Given the description of an element on the screen output the (x, y) to click on. 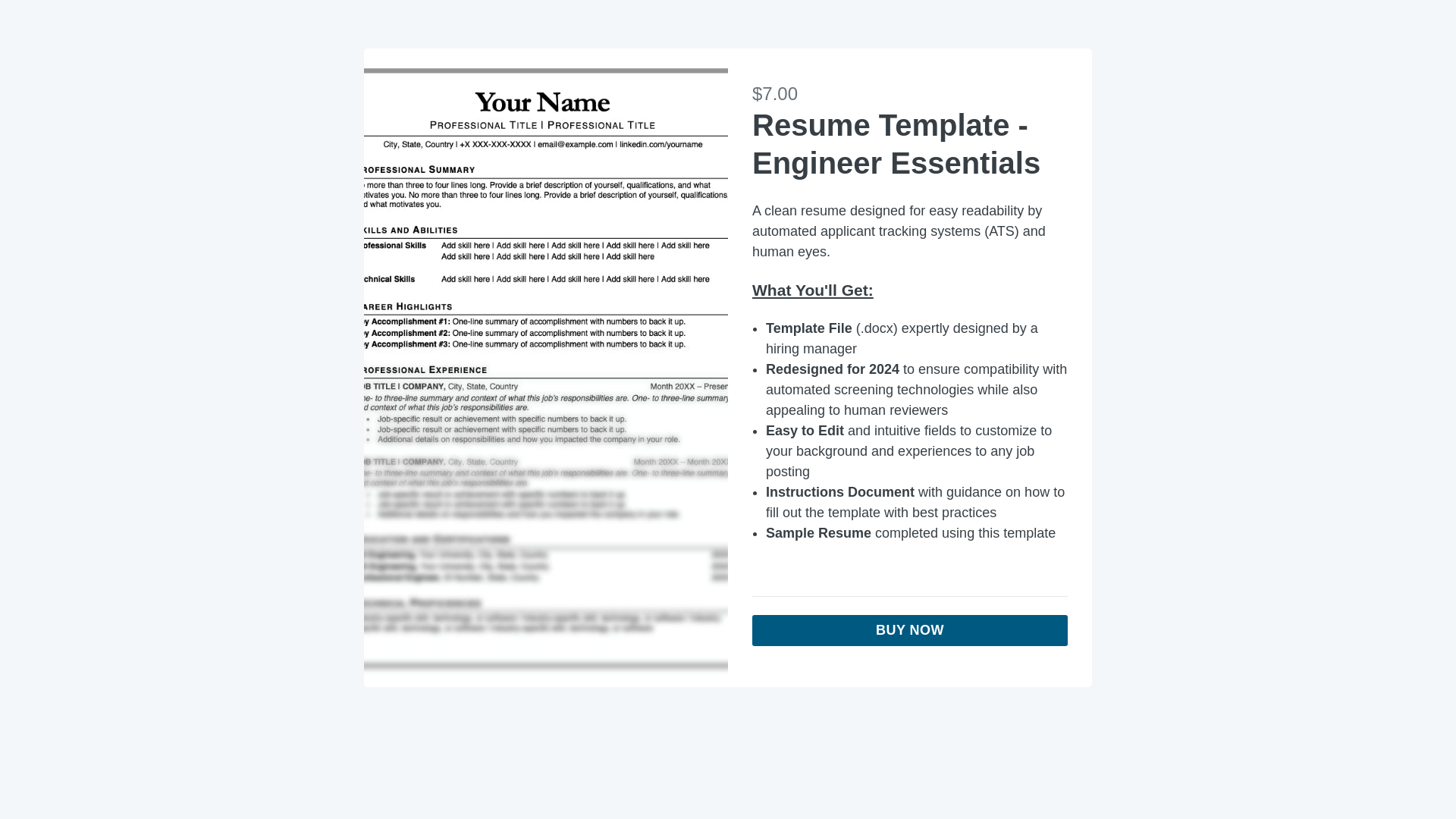
BUY NOW (909, 630)
